Given the description of an element on the screen output the (x, y) to click on. 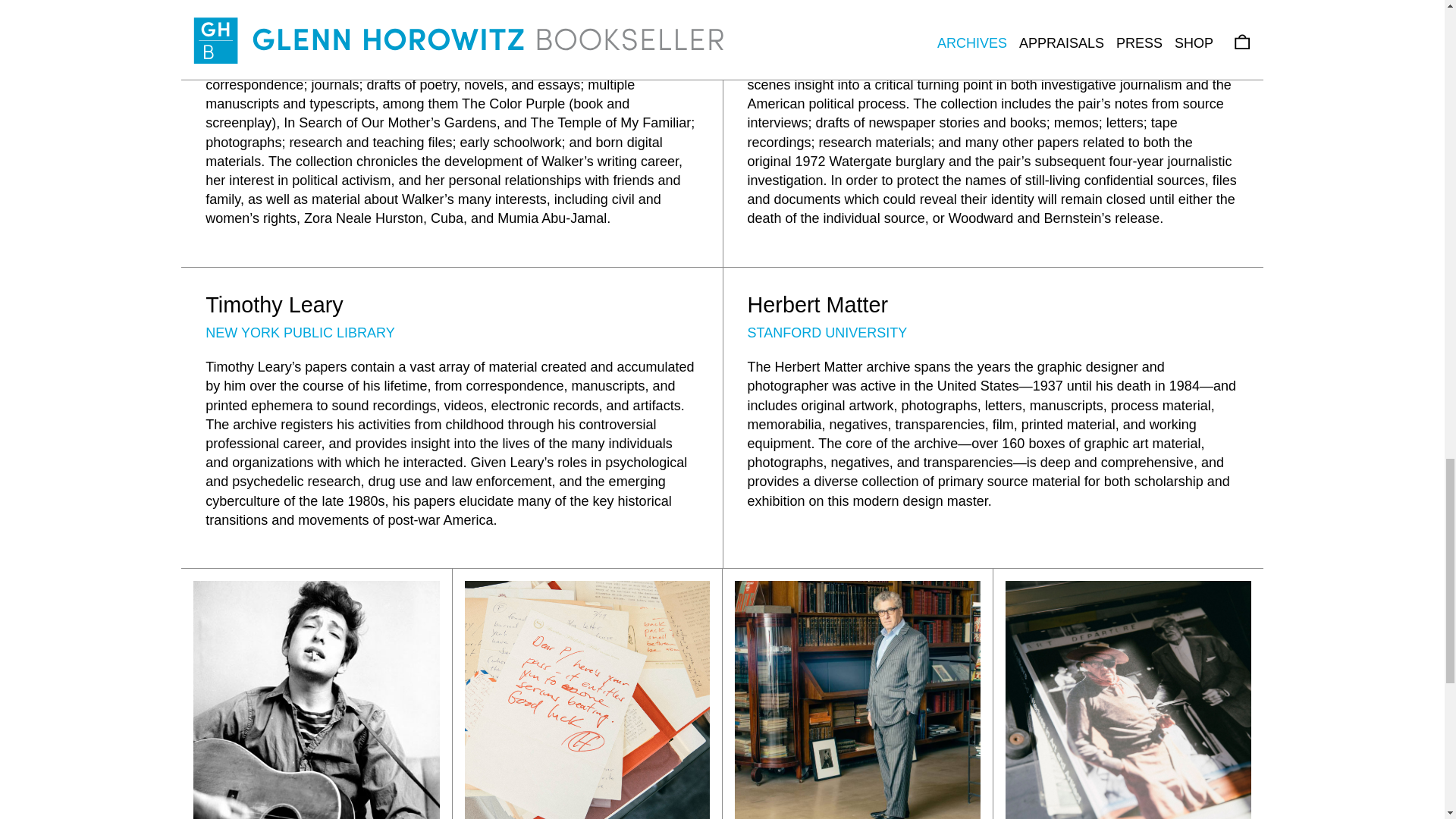
EMORY UNIVERSITY (272, 11)
STANFORD UNIVERSITY (827, 332)
NEW YORK PUBLIC LIBRARY (299, 332)
HARRY RANSOM CENTER, UNIVERSITY OF TEXAS AT AUSTIN (949, 11)
